Given the description of an element on the screen output the (x, y) to click on. 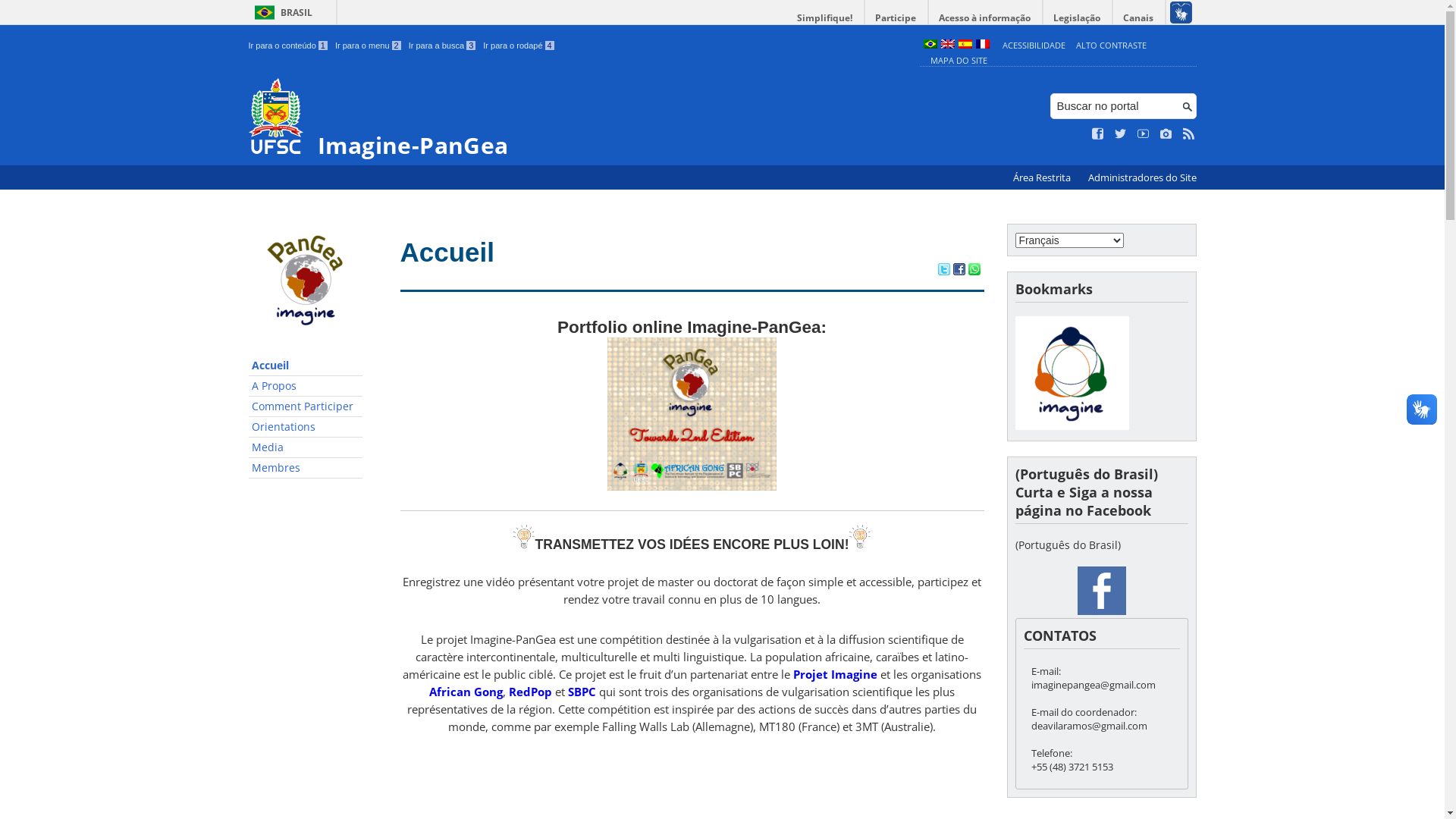
Compartilhar no WhatsApp Element type: hover (973, 270)
Accueil Element type: text (447, 251)
Accueil Element type: text (305, 365)
Compartilhar no Twitter Element type: hover (943, 270)
Canais Element type: text (1138, 18)
MAPA DO SITE Element type: text (957, 59)
ALTO CONTRASTE Element type: text (1111, 44)
BRASIL Element type: text (280, 12)
A Propos Element type: text (305, 386)
Participe Element type: text (895, 18)
Membres Element type: text (305, 468)
ACESSIBILIDADE Element type: text (1033, 44)
Simplifique! Element type: text (825, 18)
Media Element type: text (305, 447)
Compartilhar no Facebook Element type: hover (958, 270)
Orientations Element type: text (305, 427)
Facebook Element type: hover (1100, 590)
RedPop Element type: text (530, 691)
Ir para a busca 3 Element type: text (442, 45)
African Gong Element type: text (465, 691)
Imagine-PanGea Element type: text (580, 117)
Curta no Facebook Element type: hover (1098, 134)
English (en) Element type: hover (946, 44)
SBPC Element type: text (581, 691)
Comment Participer Element type: text (305, 406)
Siga no Twitter Element type: hover (1120, 134)
Projet Imagine Element type: text (835, 673)
Administradores do Site Element type: text (1141, 177)
Ir para o menu 2 Element type: text (368, 45)
Veja no Instagram Element type: hover (1166, 134)
